Given the description of an element on the screen output the (x, y) to click on. 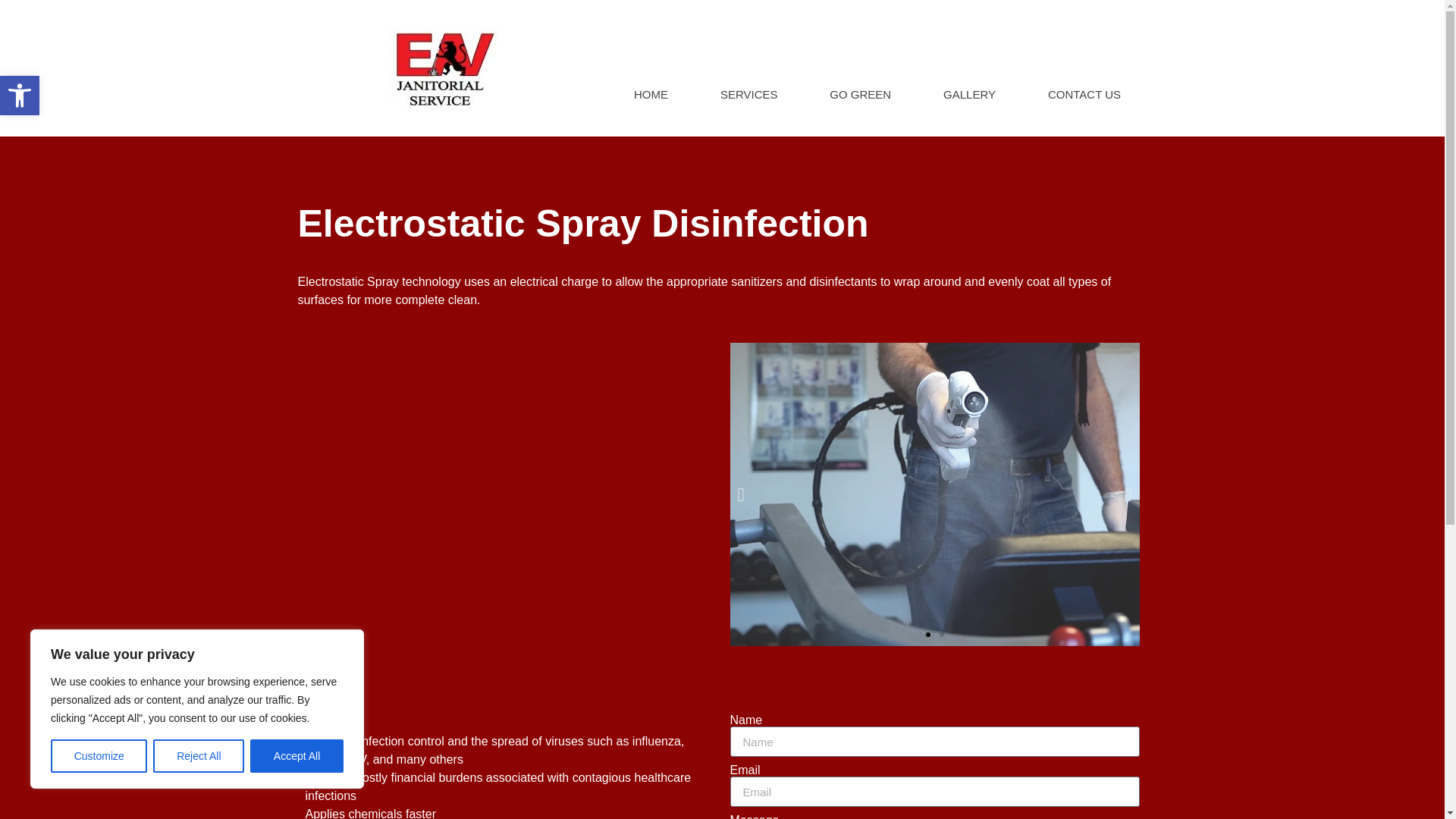
CONTACT US (1084, 94)
GALLERY (969, 94)
Accept All (296, 756)
Accessibility Tools (19, 95)
SERVICES (748, 94)
GO GREEN (19, 95)
